Given the description of an element on the screen output the (x, y) to click on. 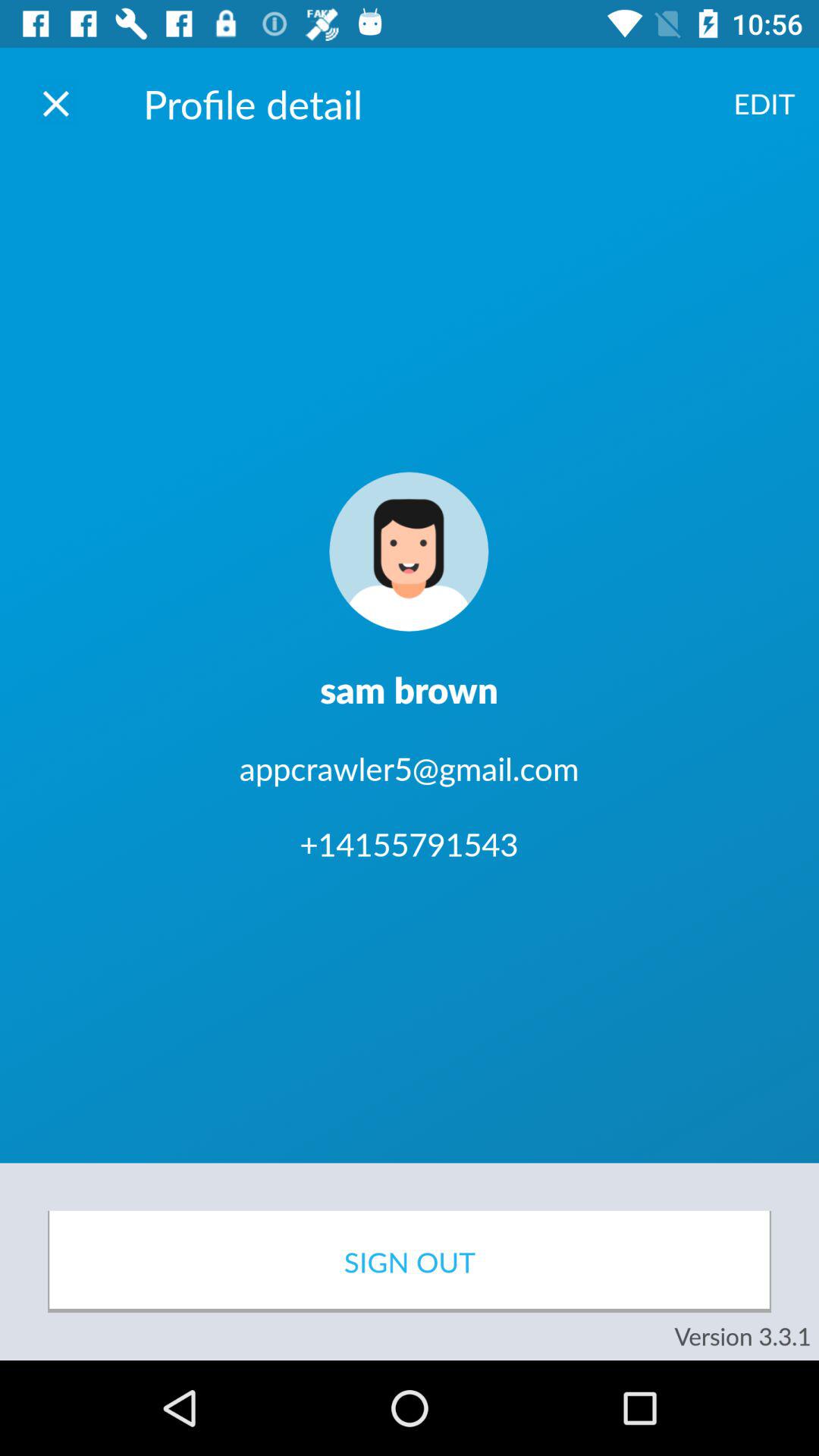
turn on the icon next to profile detail icon (55, 103)
